Given the description of an element on the screen output the (x, y) to click on. 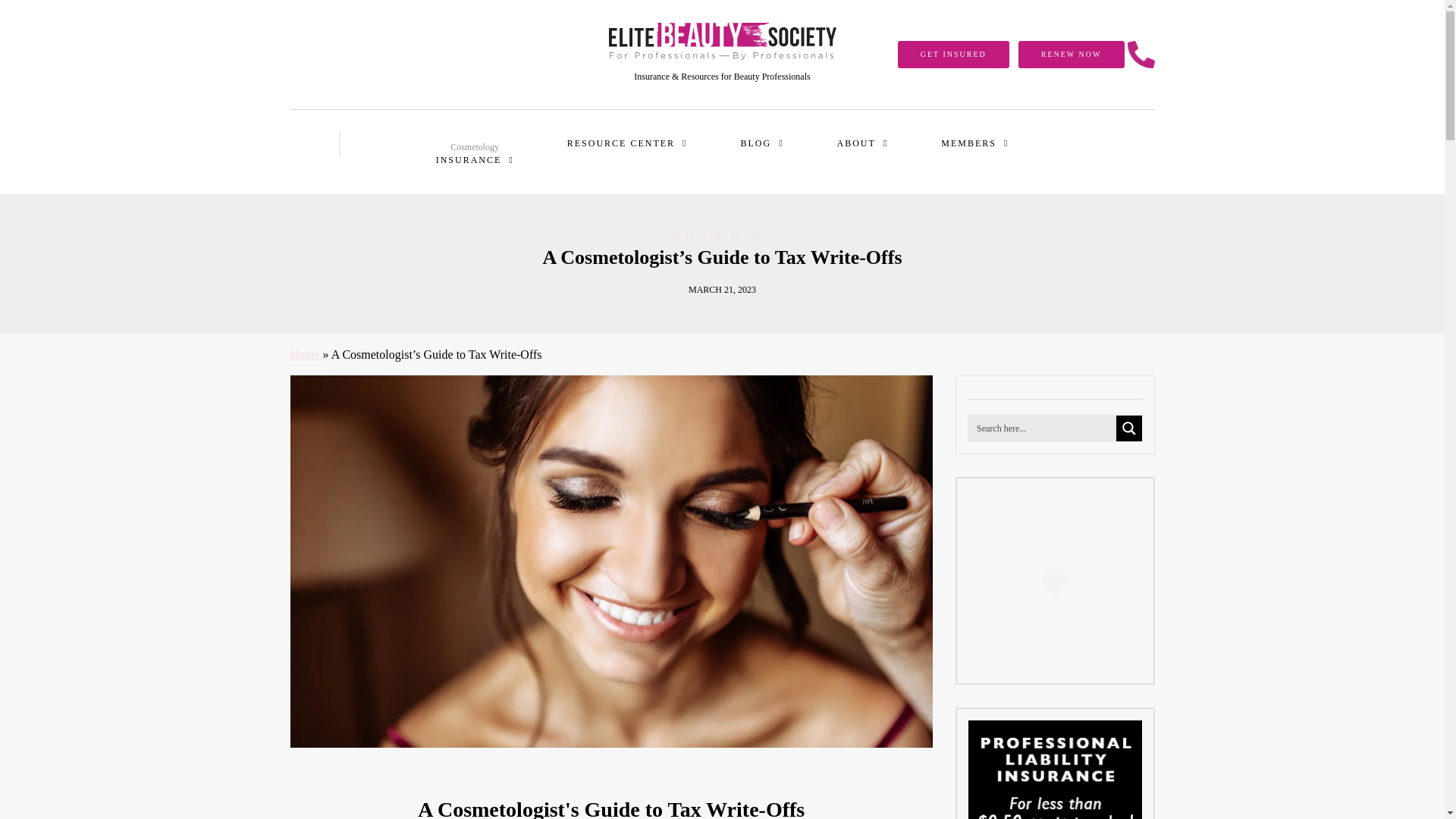
RENEW NOW (1070, 53)
GET INSURED (953, 53)
BLOG (475, 151)
RESOURCE CENTER (761, 143)
